Given the description of an element on the screen output the (x, y) to click on. 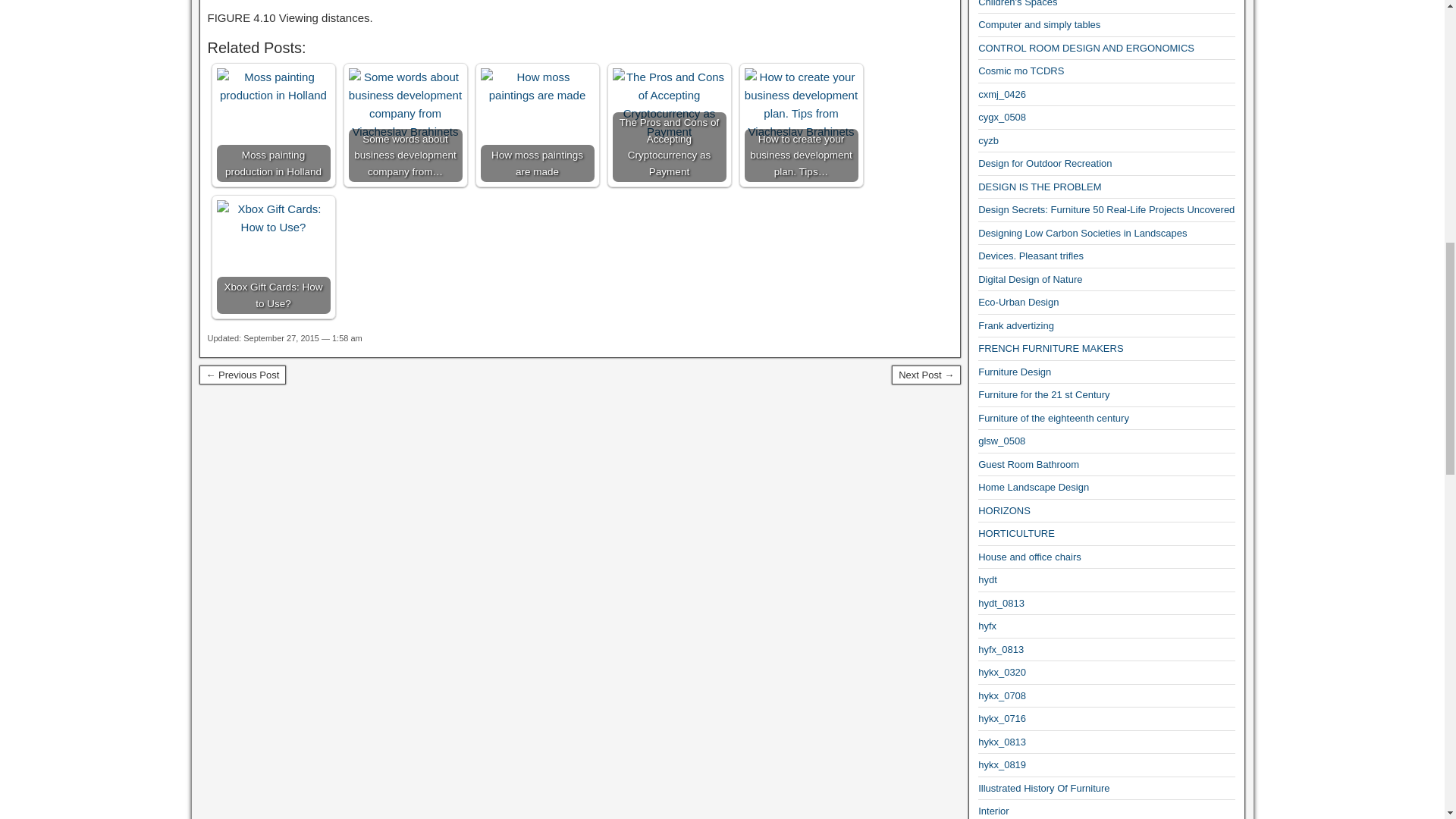
Designing Low Carbon Societies in Landscapes (1082, 233)
Cosmic mo TCDRS (1021, 70)
Xbox Gift Cards: How to Use? (273, 256)
Moss painting production in Holland (273, 85)
How moss paintings are made (537, 85)
Computer and simply tables (1039, 24)
Devices. Pleasant trifles (1030, 255)
Toilets (241, 374)
The Pros and Cons of Accepting Cryptocurrency as Payment (669, 103)
Moss painting production in Holland (273, 124)
